Given the description of an element on the screen output the (x, y) to click on. 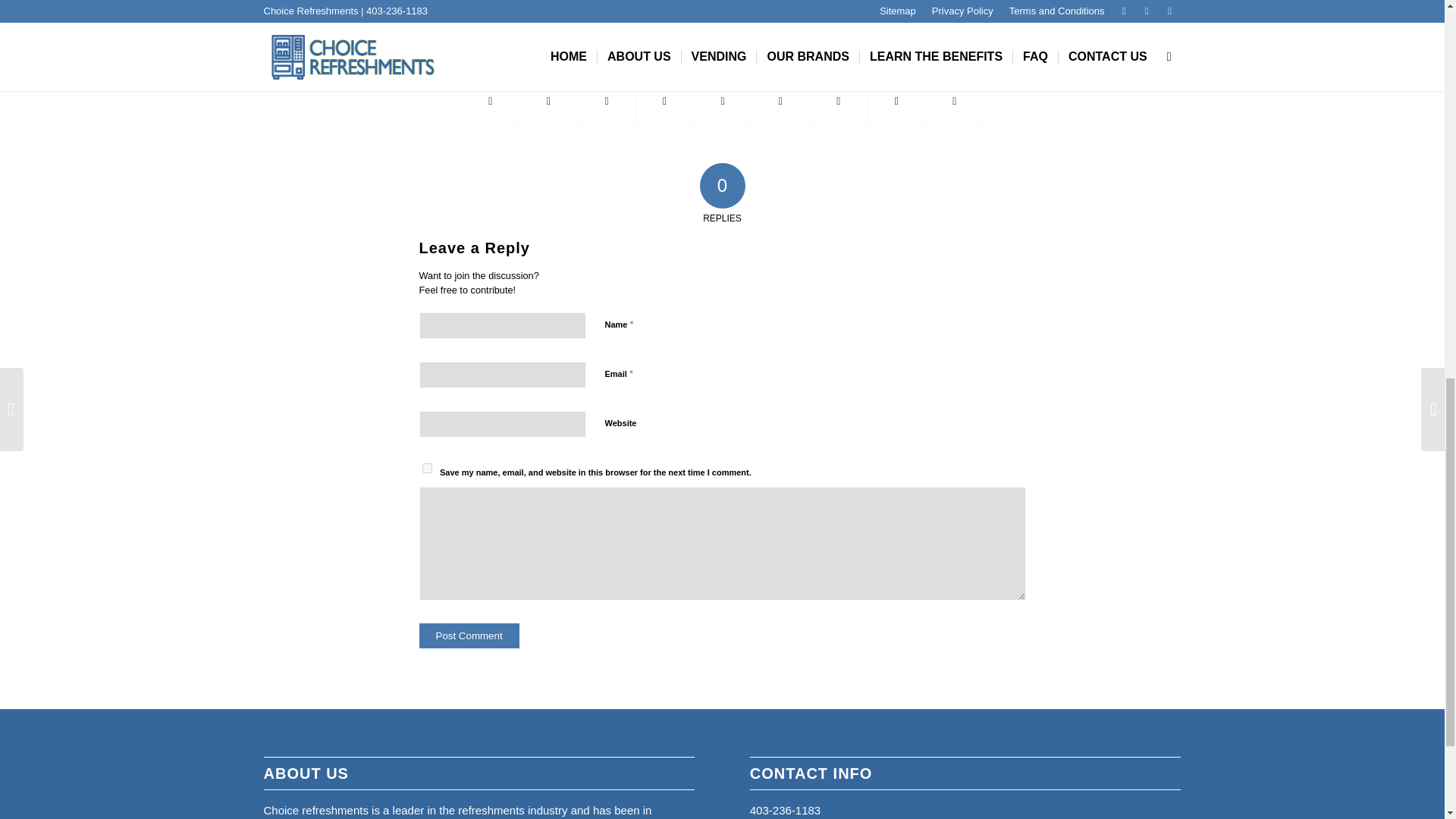
Post Comment (468, 635)
yes (426, 468)
Post Comment (468, 635)
